Given the description of an element on the screen output the (x, y) to click on. 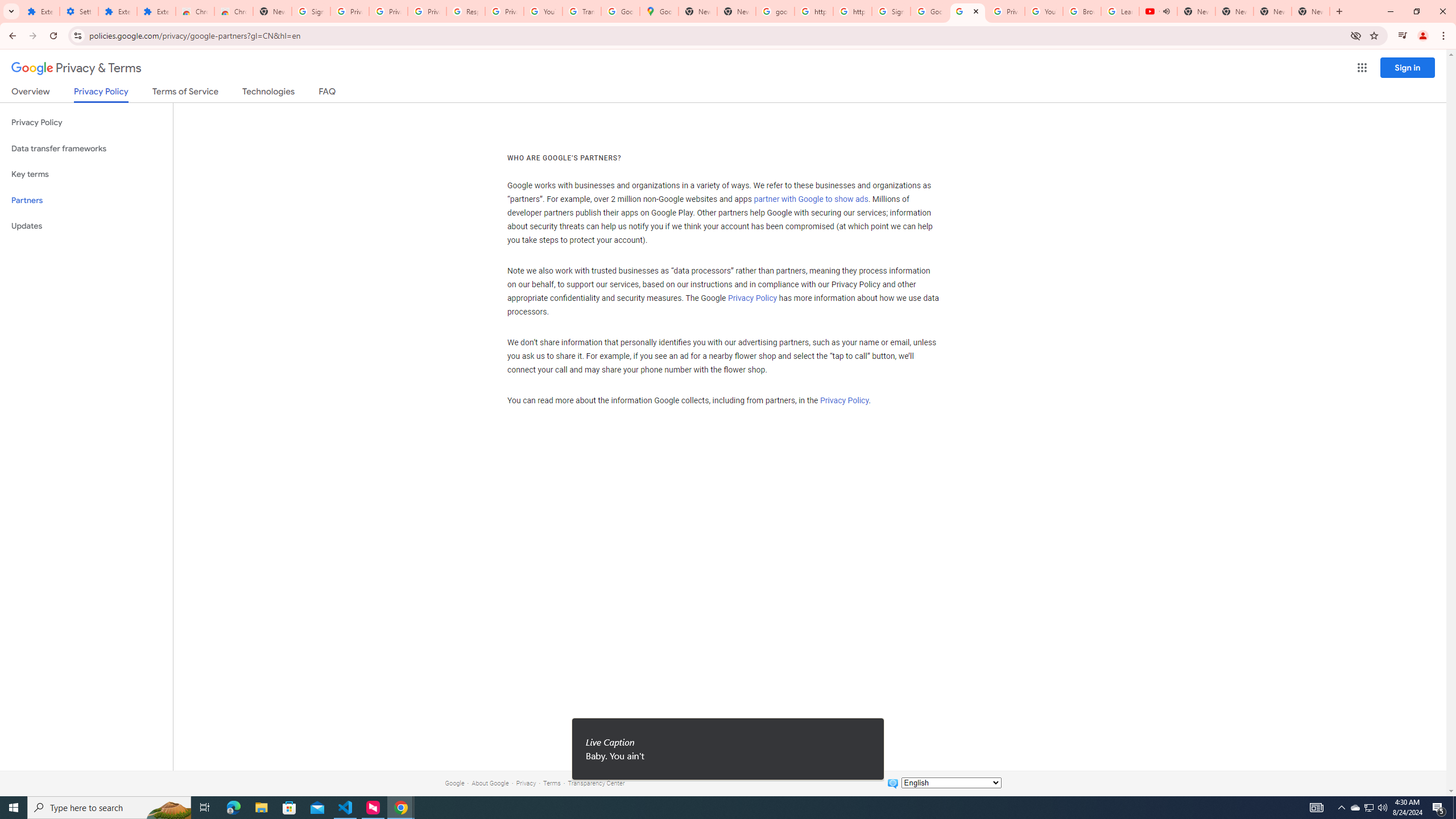
New Tab (1311, 11)
Google Maps (659, 11)
Sign in - Google Accounts (310, 11)
YouTube (1043, 11)
